Given the description of an element on the screen output the (x, y) to click on. 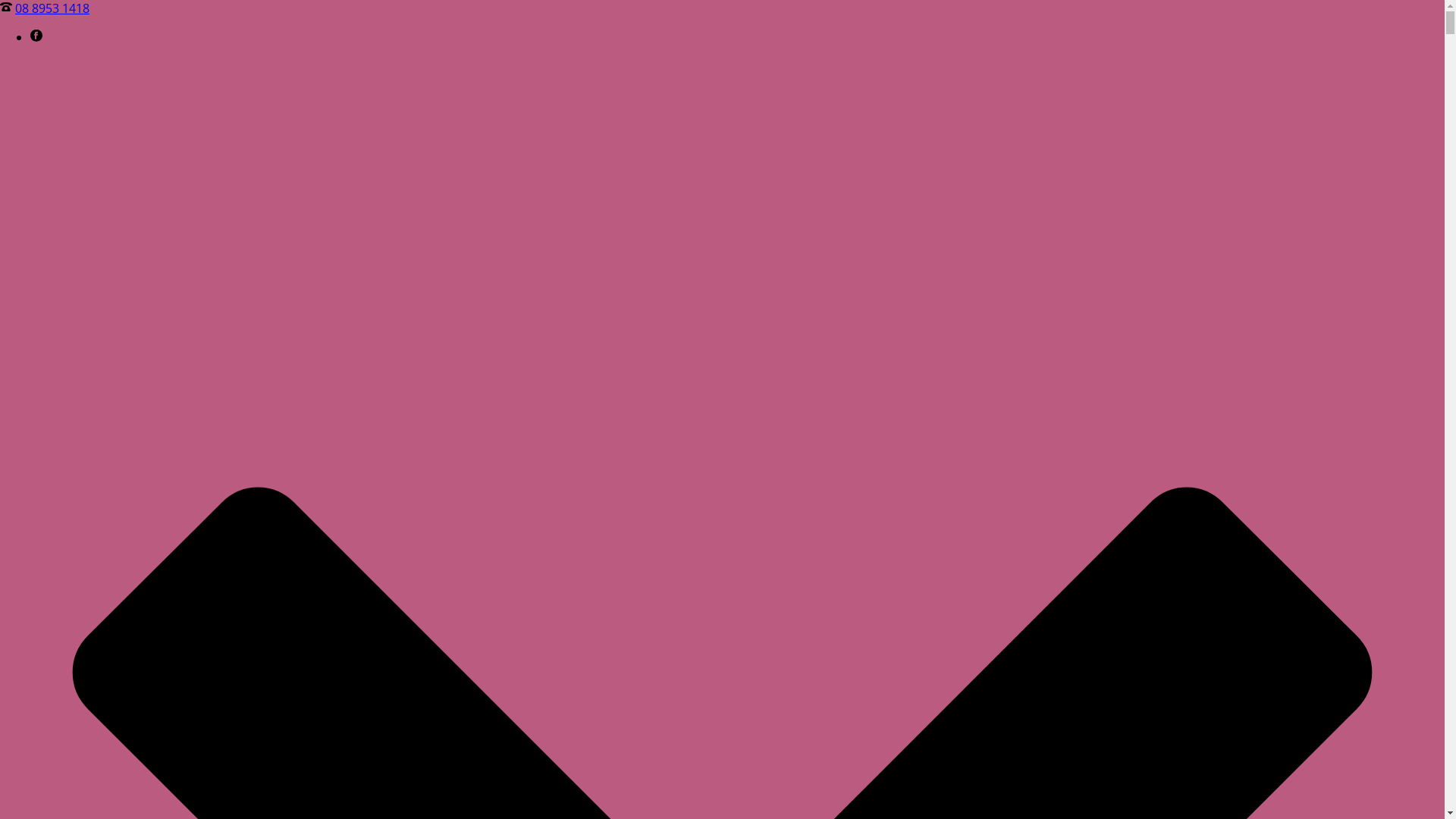
08 8953 1418 Element type: text (52, 8)
